Given the description of an element on the screen output the (x, y) to click on. 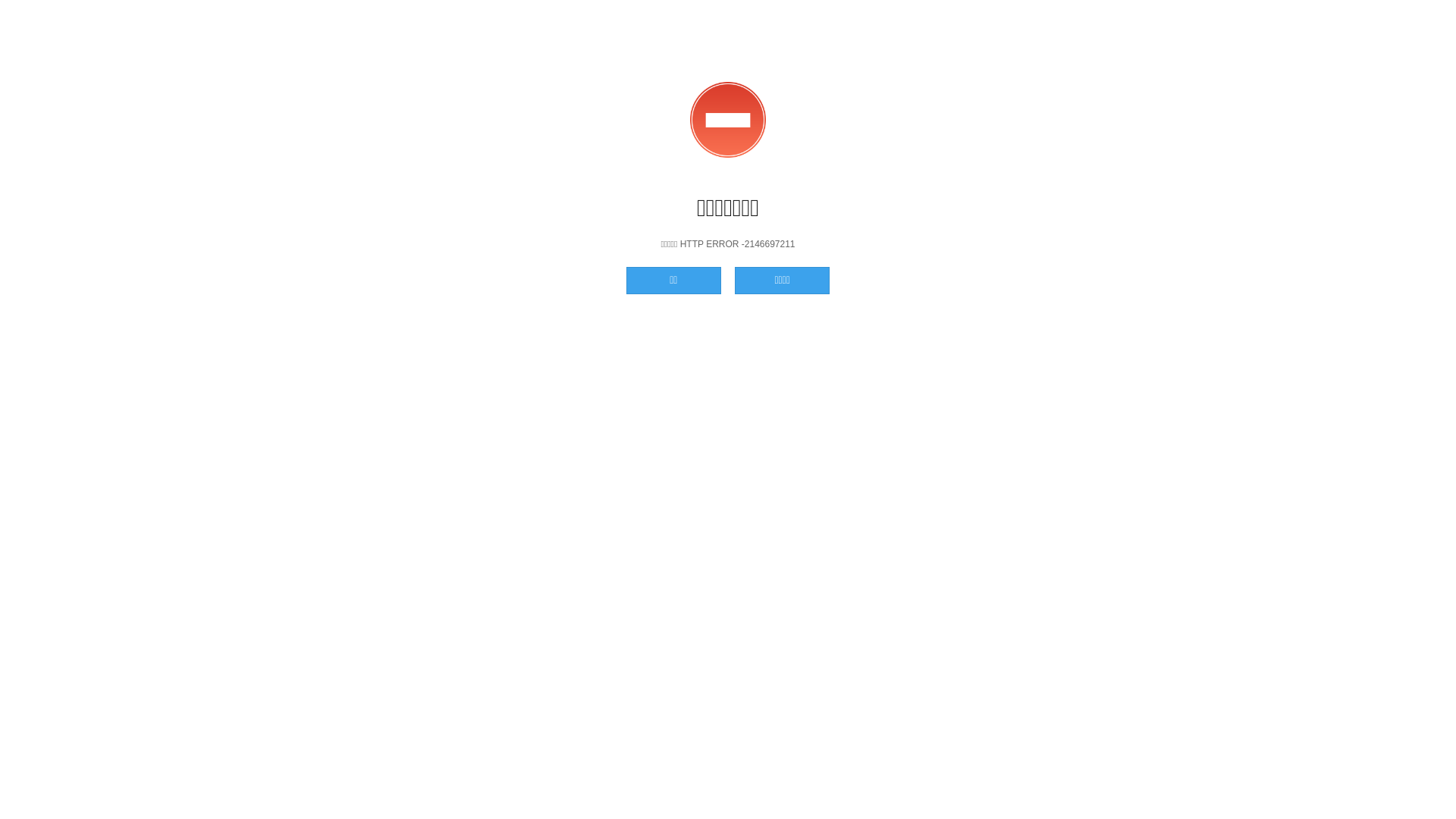
12 Element type: text (897, 336)
10 Element type: text (666, 336)
9 Element type: text (550, 336)
5 Element type: text (550, 304)
2 Element type: text (666, 273)
13 Element type: text (550, 367)
7 Element type: text (782, 304)
BD Element type: text (728, 634)
14 Element type: text (666, 367)
8 Element type: text (897, 304)
BD Element type: text (884, 634)
15 Element type: text (782, 367)
11 Element type: text (782, 336)
16 Element type: text (897, 367)
720P Element type: text (571, 634)
3 Element type: text (782, 273)
6 Element type: text (666, 304)
1 Element type: text (550, 273)
4 Element type: text (897, 273)
